Given the description of an element on the screen output the (x, y) to click on. 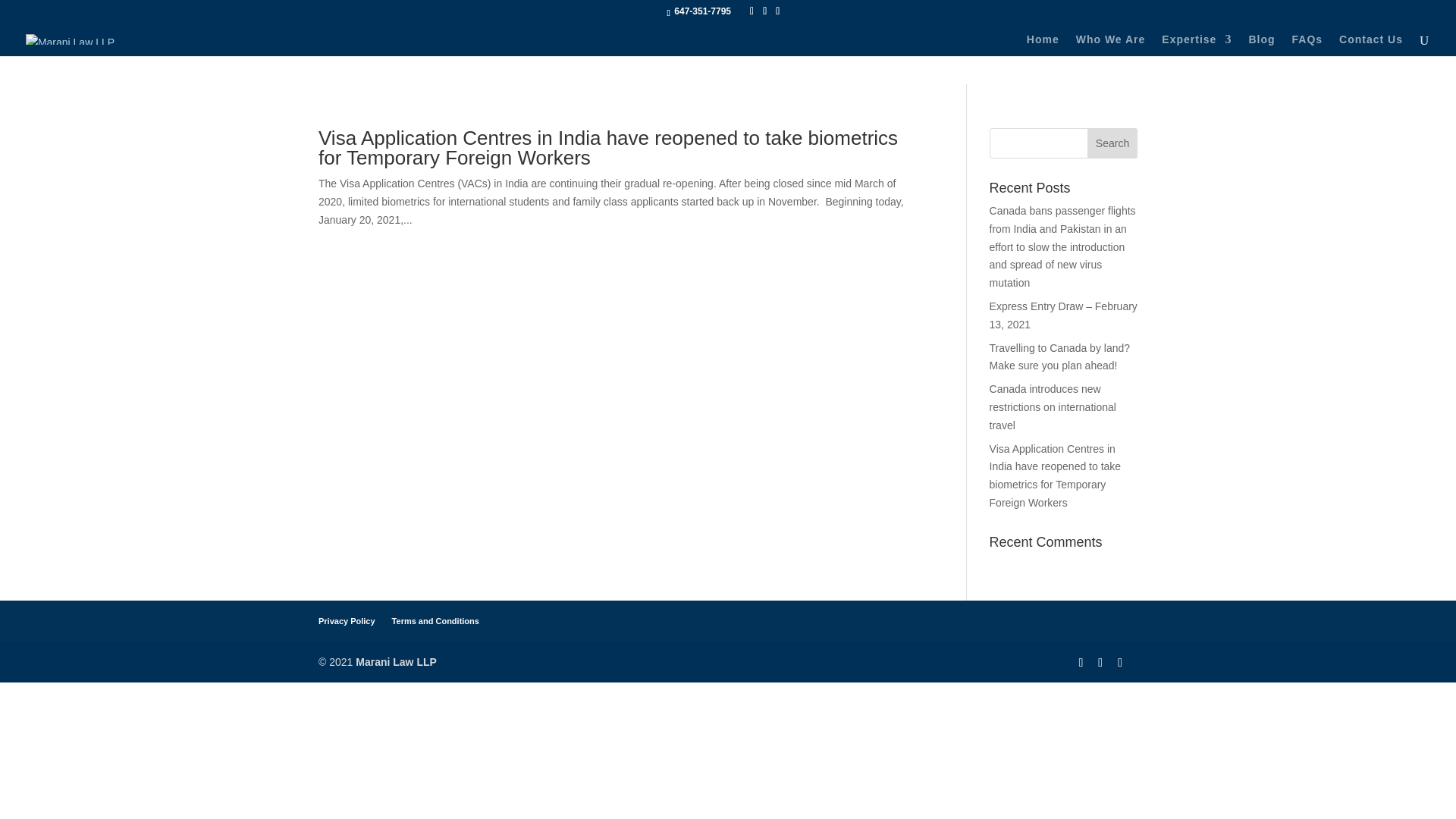
Marani Law LLP (395, 662)
Who We Are (1110, 45)
Canada introduces new restrictions on international travel (1053, 407)
Travelling to Canada by land? Make sure you plan ahead! (1060, 357)
Privacy Policy (346, 620)
Blog (1261, 45)
Terms and Conditions (435, 620)
Search (1112, 142)
647-351-7795 (702, 10)
Search (1112, 142)
FAQs (1307, 45)
Home (1042, 45)
Contact Us (1371, 45)
